Given the description of an element on the screen output the (x, y) to click on. 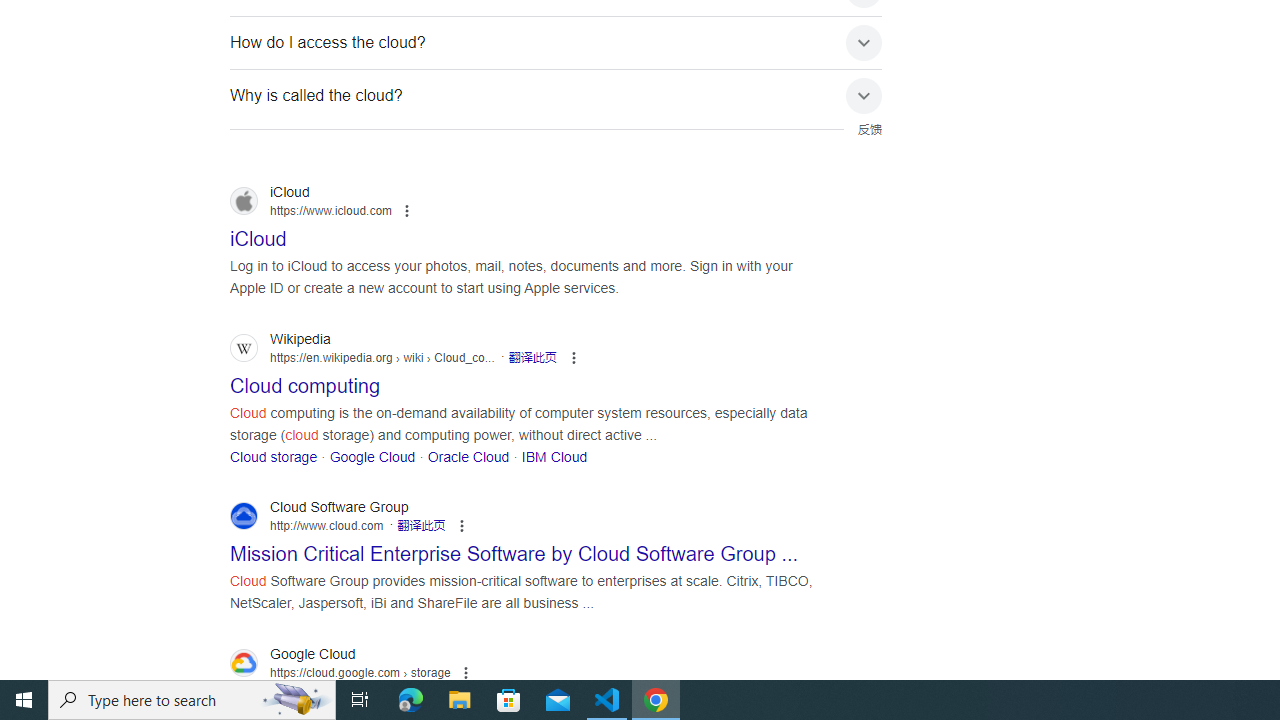
Cloud storage (273, 456)
Oracle Cloud (468, 456)
How do I access the cloud? (555, 42)
IBM Cloud (553, 456)
Why is called the cloud? (555, 95)
 iCloud iCloud https://www.icloud.com (258, 233)
Google Cloud (372, 456)
